Given the description of an element on the screen output the (x, y) to click on. 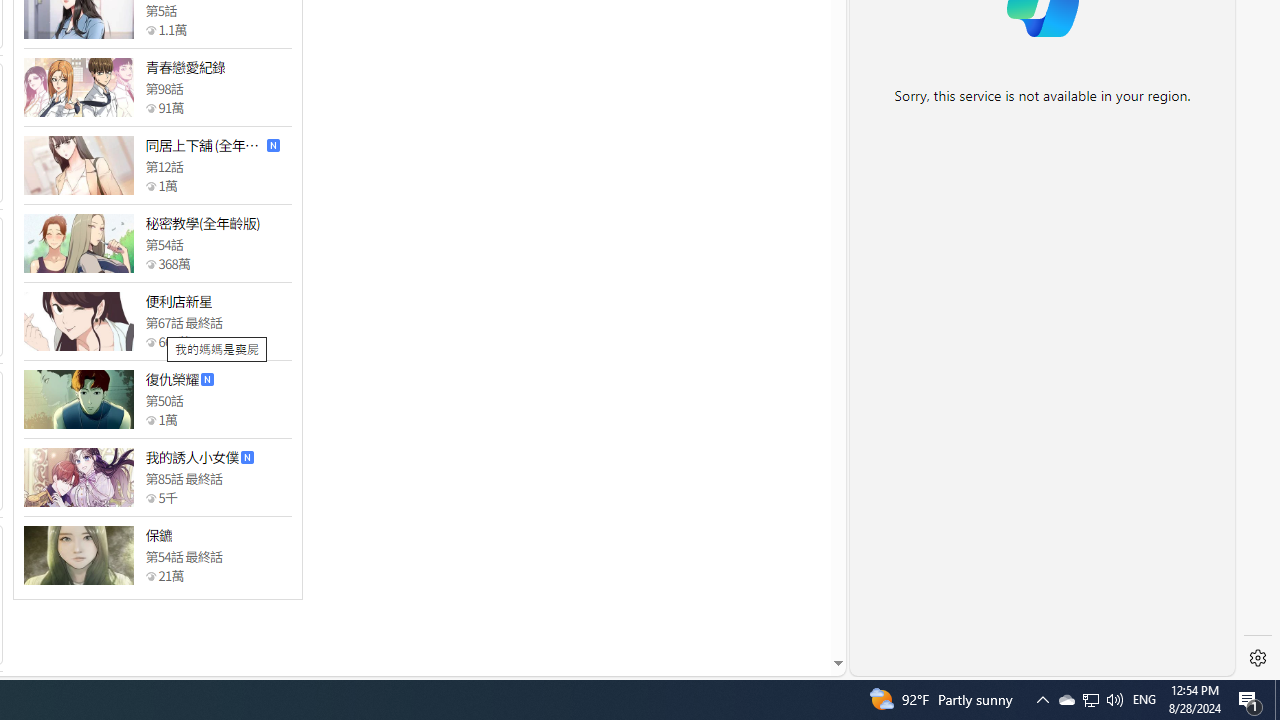
Class: thumb_img (78, 555)
Class: epicon_starpoint (150, 575)
Settings (1258, 658)
